Given the description of an element on the screen output the (x, y) to click on. 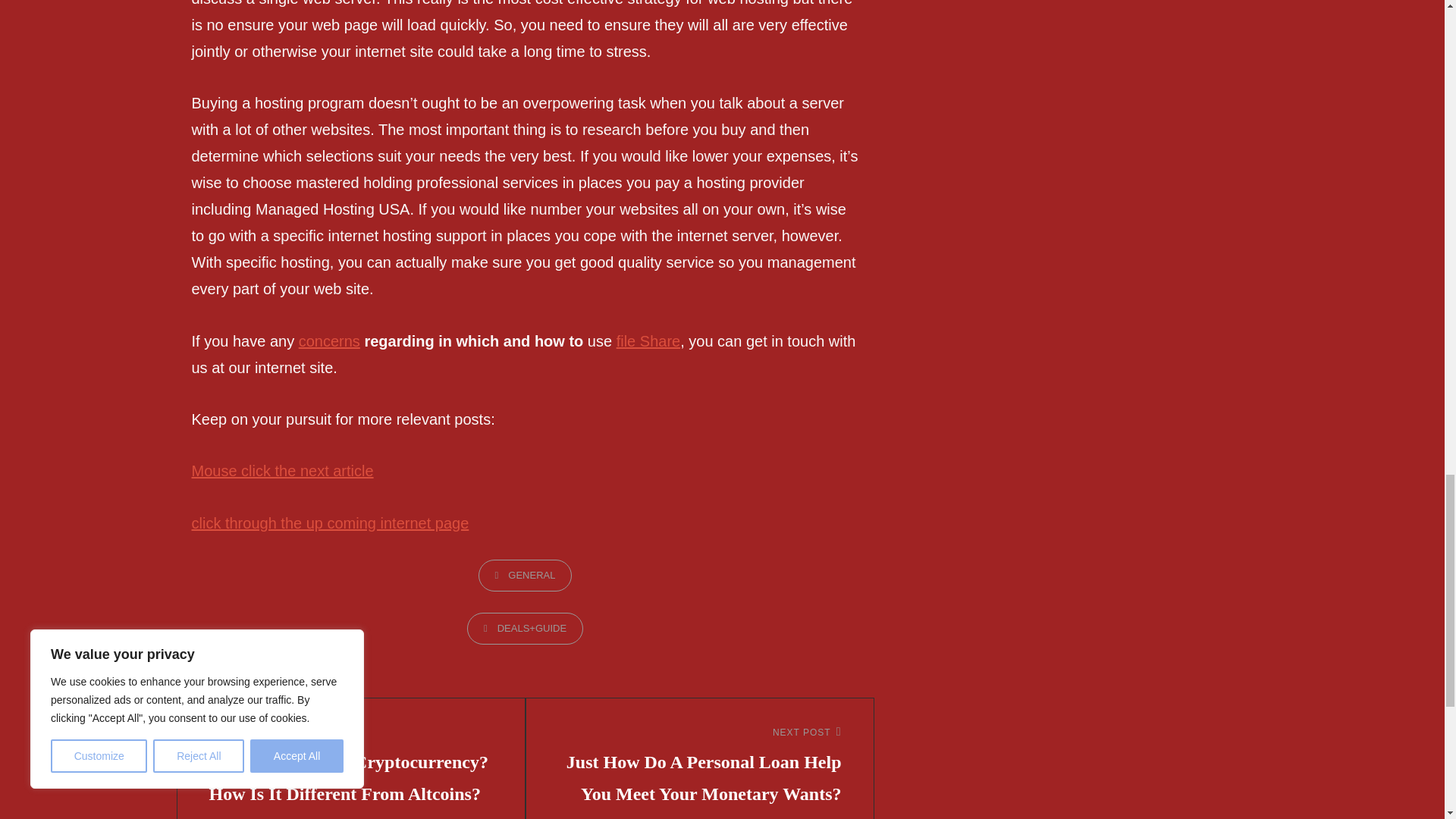
GENERAL (525, 575)
concerns (328, 340)
file Share (648, 340)
click through the up coming internet page (329, 523)
Mouse click the next article (281, 470)
